Given the description of an element on the screen output the (x, y) to click on. 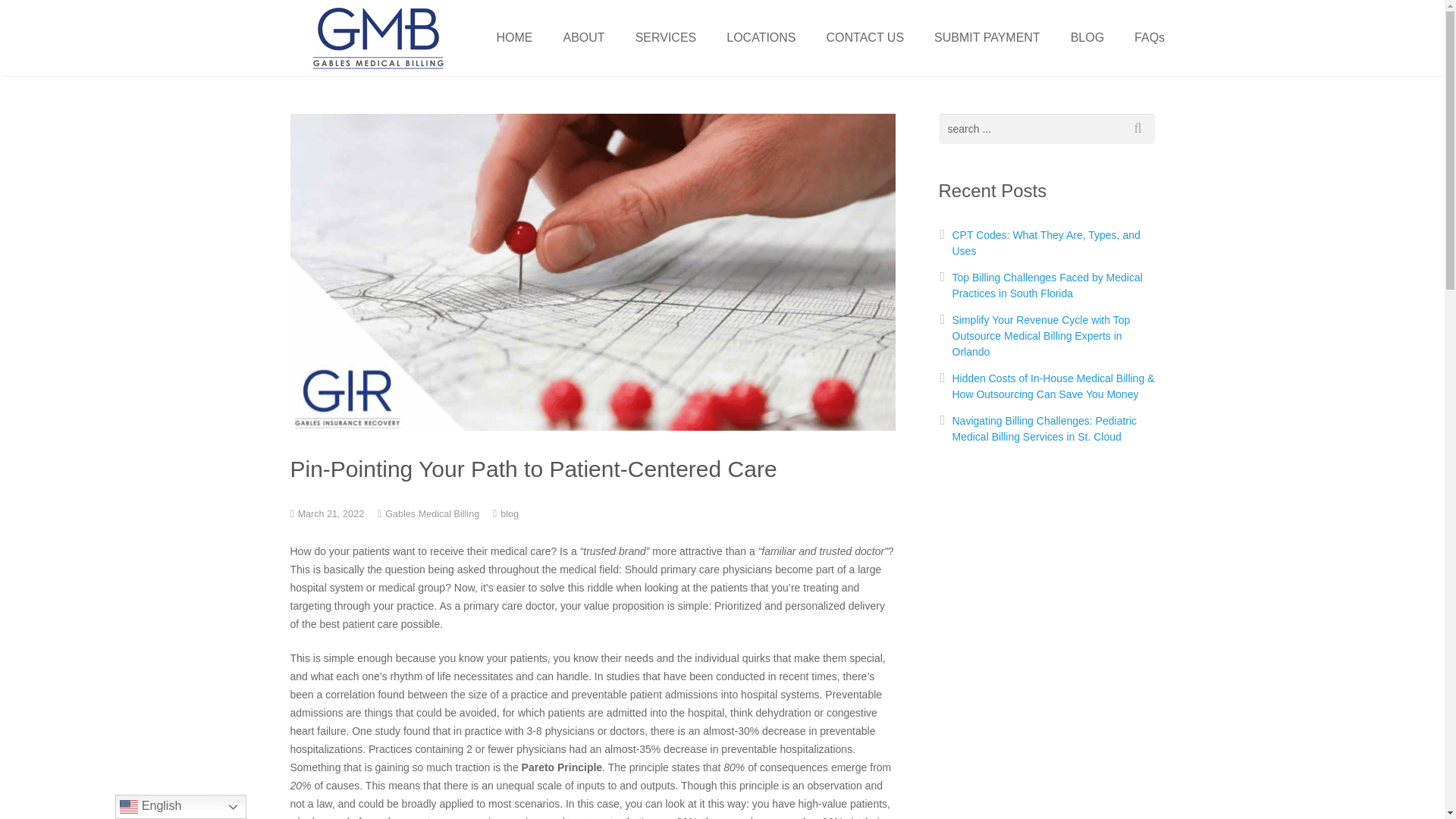
LOCATIONS (760, 37)
SUBMIT PAYMENT (986, 37)
CPT Codes: What They Are, Types, and Uses (1046, 243)
ABOUT (583, 37)
CONTACT US (865, 37)
FAQs (1149, 37)
blog (509, 513)
BLOG (1087, 37)
HOME (513, 37)
SERVICES (665, 37)
